Given the description of an element on the screen output the (x, y) to click on. 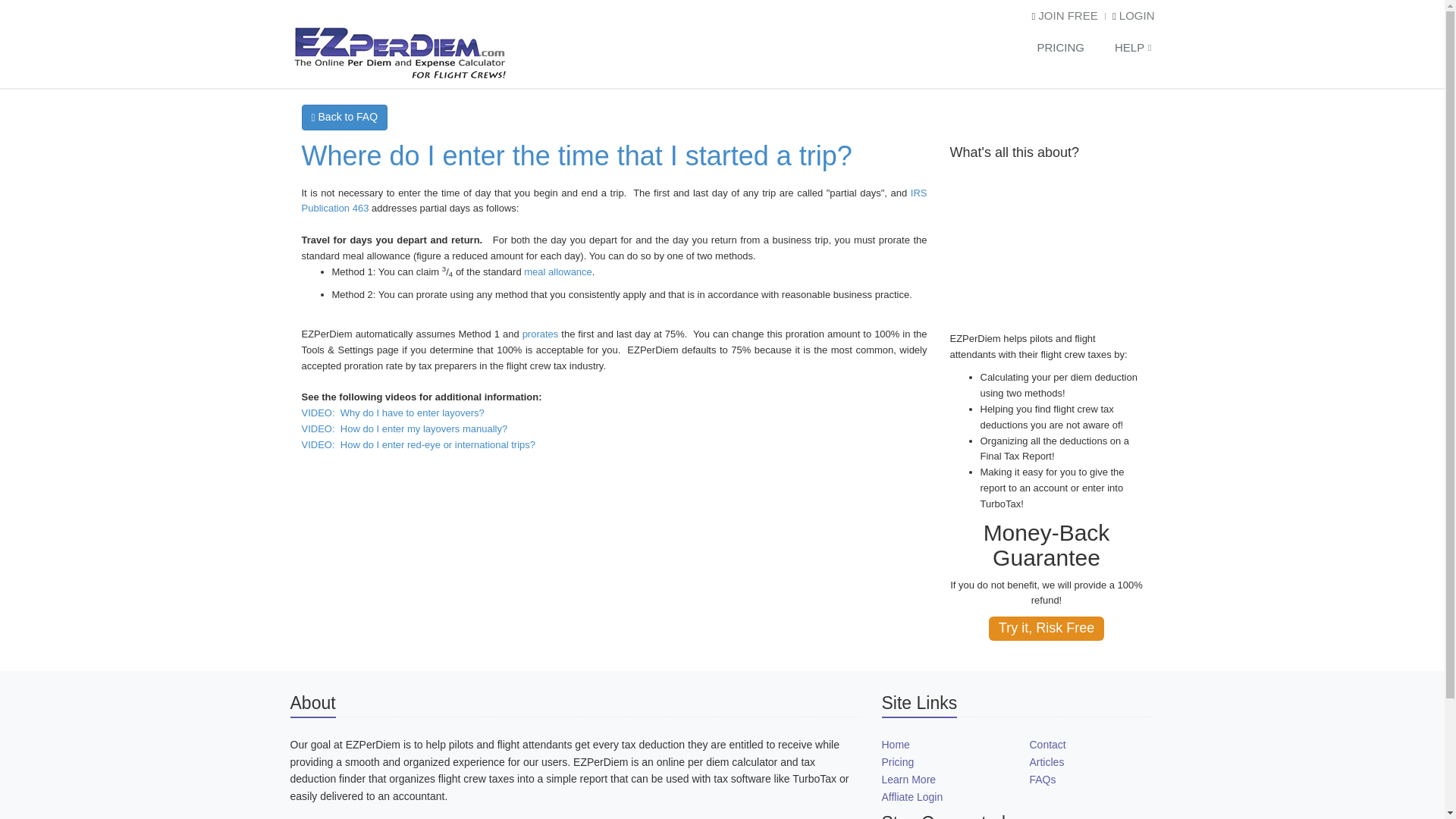
Try it, Risk Free (1045, 628)
Back to FAQ (344, 117)
prorates (540, 333)
LOGIN (1135, 15)
Home (894, 744)
VIDEO:  Why do I have to enter layovers? (392, 412)
Affliate Login (911, 797)
IRS Publication 463 (614, 200)
Learn More (908, 779)
VIDEO:  How do I enter red-eye or international trips? (418, 452)
